Given the description of an element on the screen output the (x, y) to click on. 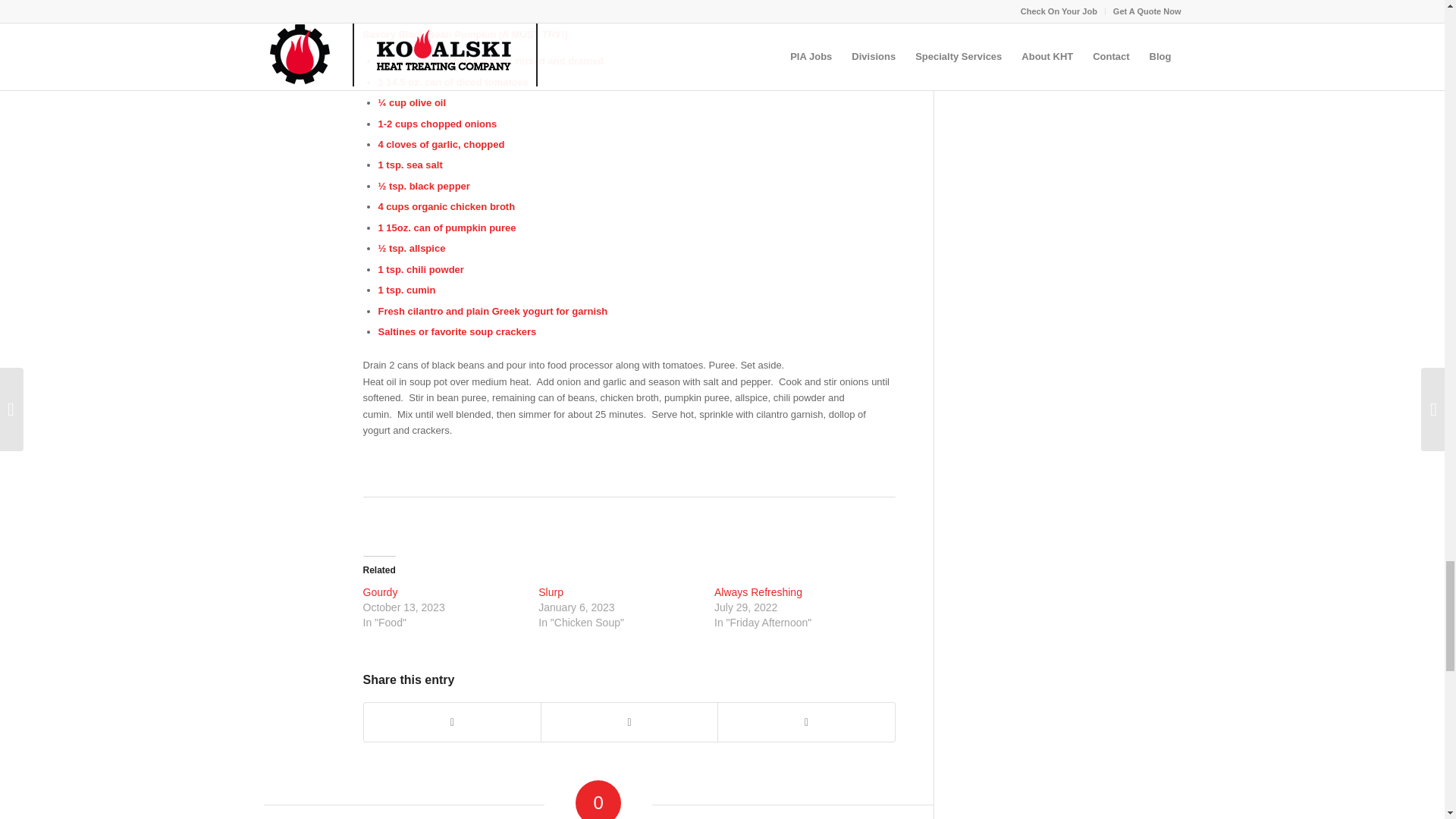
Always Refreshing (758, 592)
Slurp (550, 592)
Gourdy (379, 592)
